Given the description of an element on the screen output the (x, y) to click on. 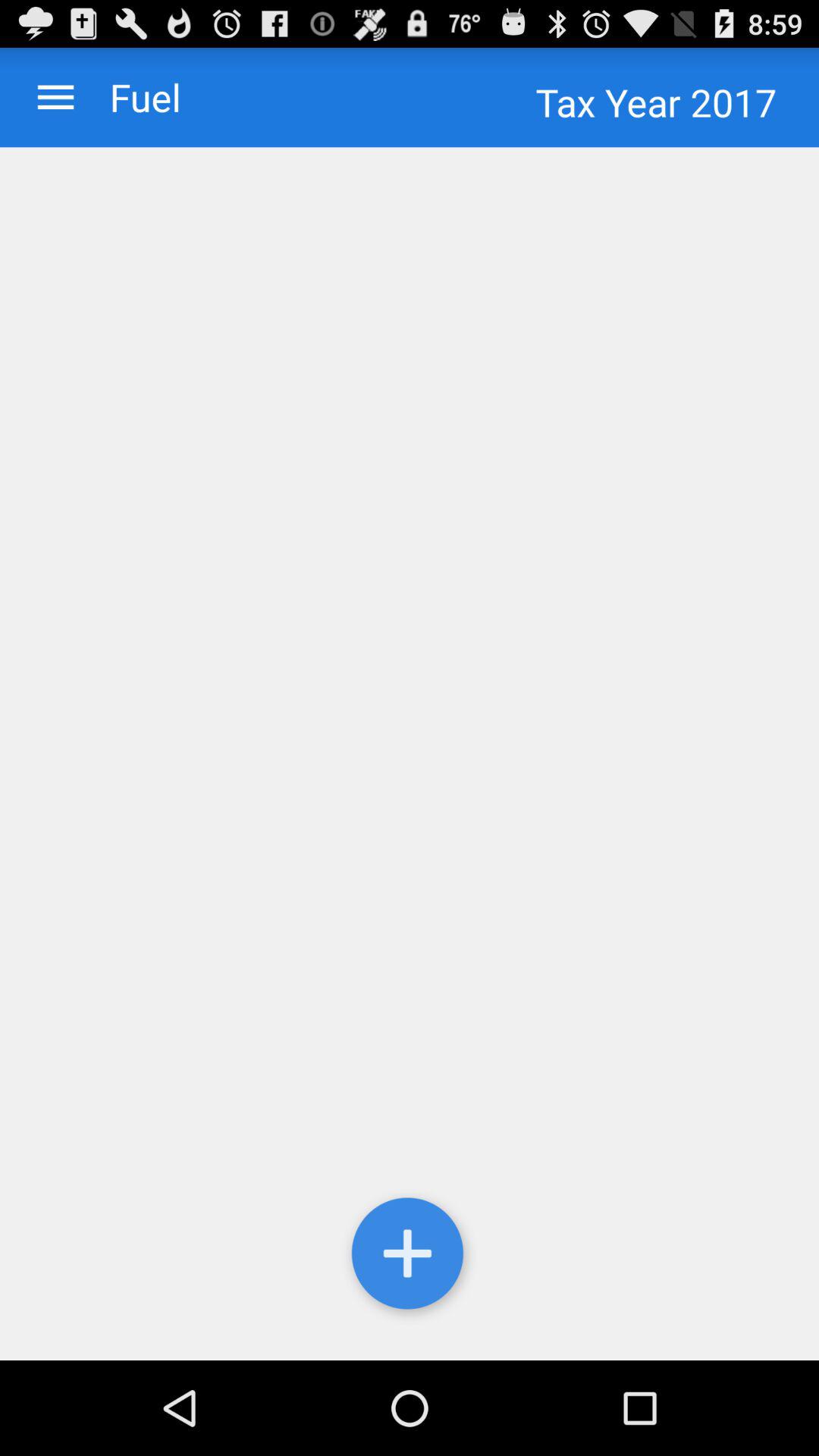
go to other options (55, 97)
